Given the description of an element on the screen output the (x, y) to click on. 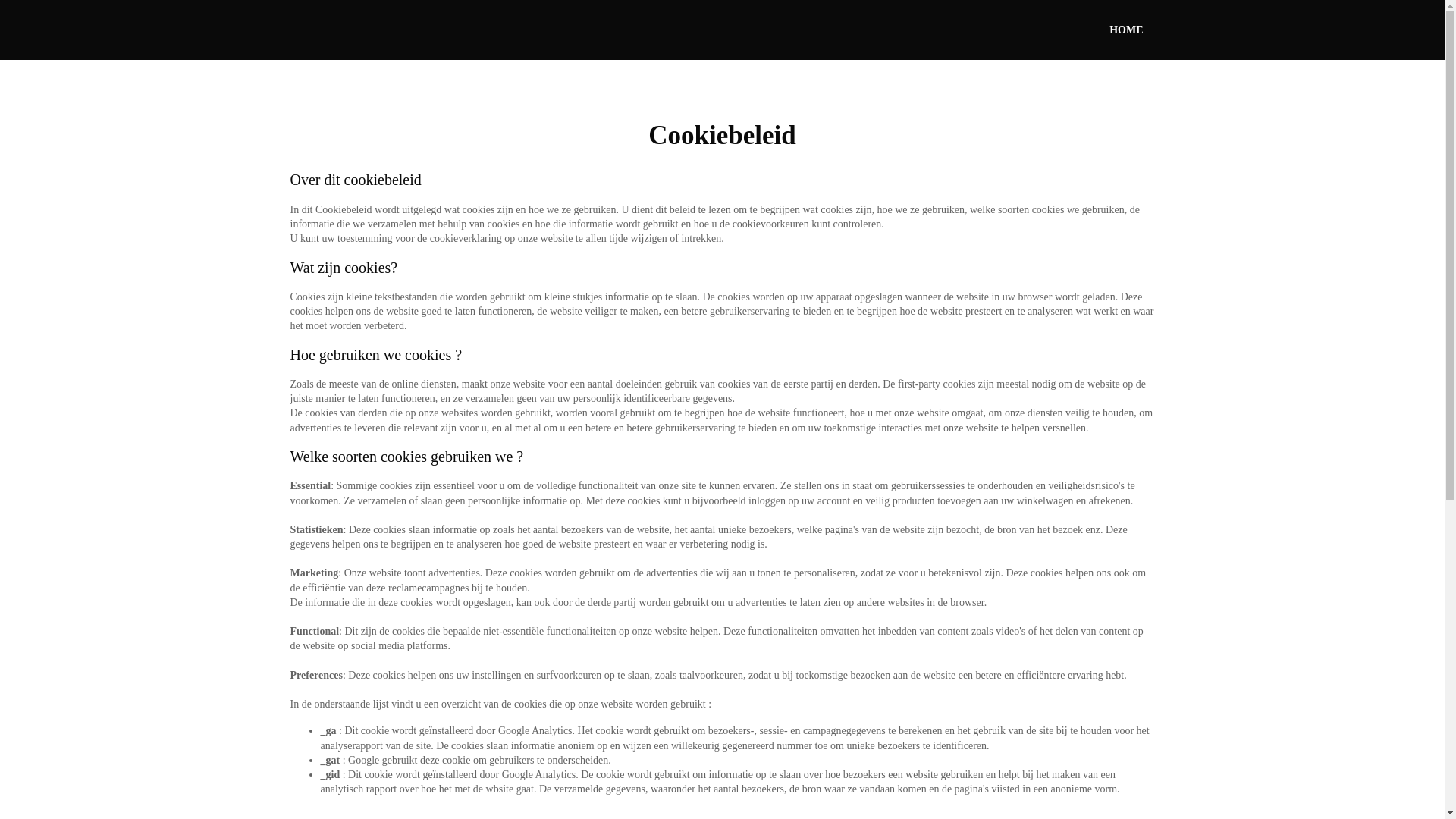
HOME Element type: text (1126, 29)
